Given the description of an element on the screen output the (x, y) to click on. 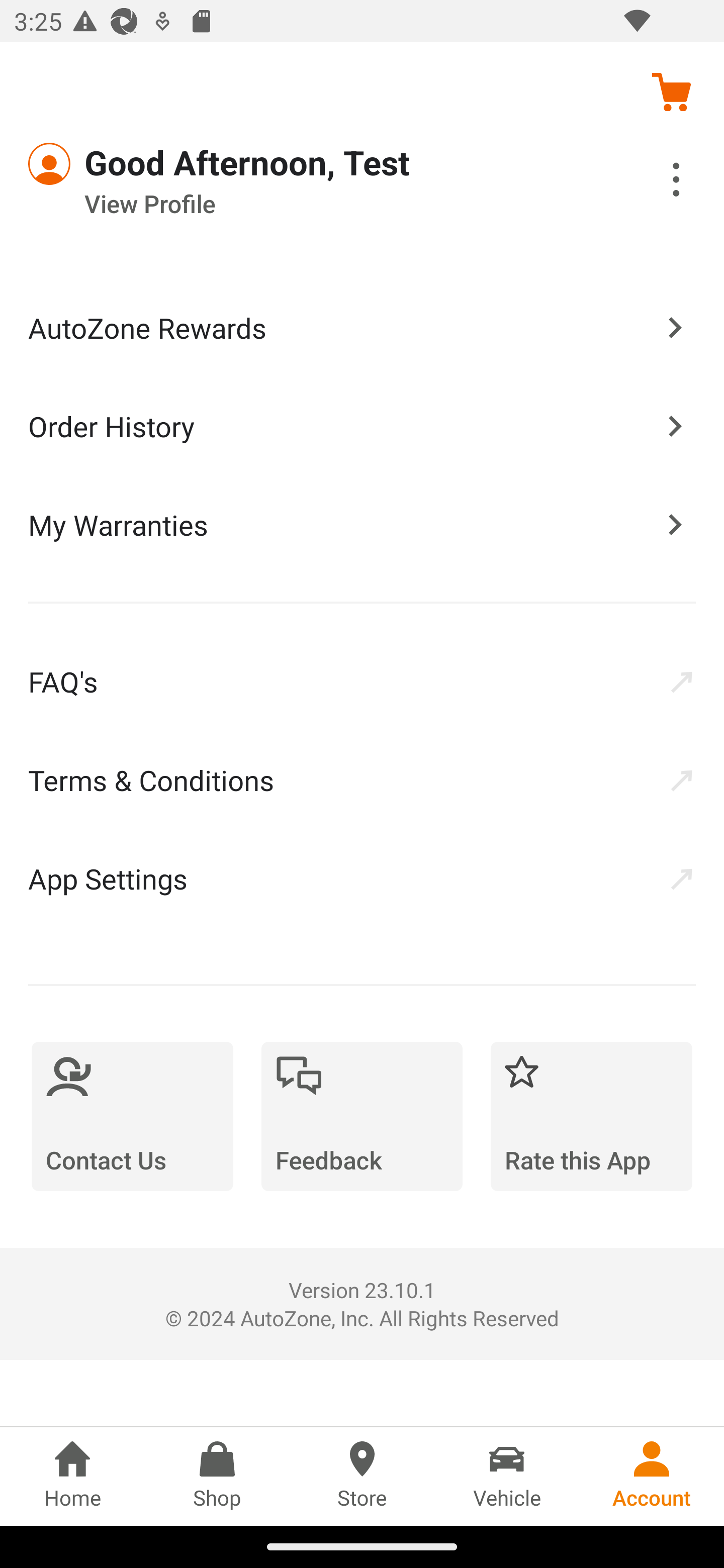
Cart, no items  (670, 91)
Good  (100, 163)
︙ (654, 182)
View Profile (306, 203)
AutoZone Rewards  (361, 327)
Order History  (361, 425)
My Warranties  (361, 524)
FAQ's  (361, 680)
Terms & Conditions  (361, 779)
App Settings  (361, 878)
Contact Us (132, 1116)
Feedback (361, 1116)
Rate this App (591, 1116)
Home (72, 1475)
Shop (216, 1475)
Store (361, 1475)
Vehicle (506, 1475)
Account (651, 1475)
